Given the description of an element on the screen output the (x, y) to click on. 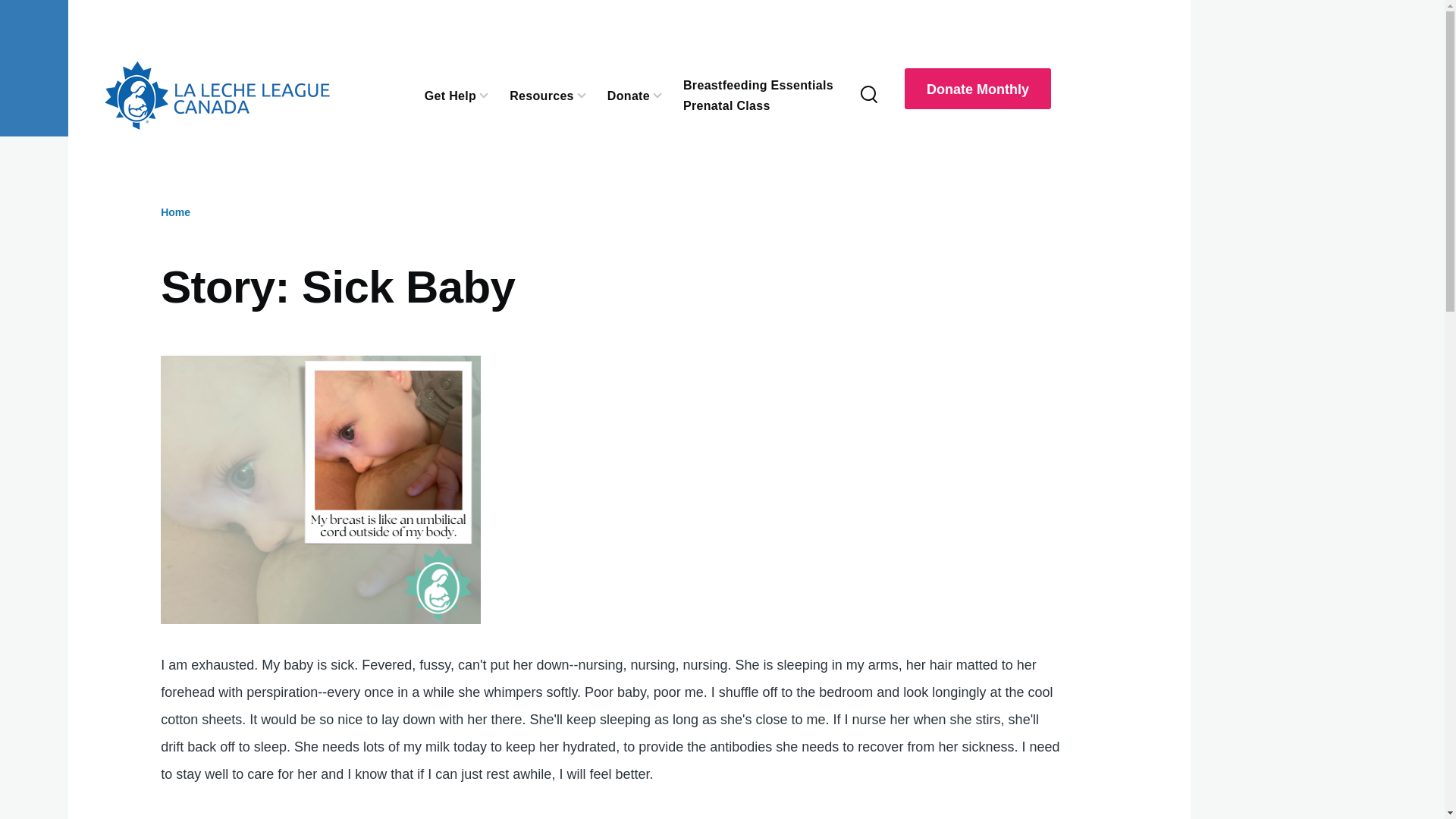
Donate (628, 94)
Resources (541, 94)
Get Help (450, 94)
Home (175, 212)
Breastfeeding Essentials Prenatal Class (758, 95)
Donate Monthly (977, 87)
Contribute (628, 94)
Skip to main content (595, 6)
Search (953, 190)
Get Help (450, 94)
